Given the description of an element on the screen output the (x, y) to click on. 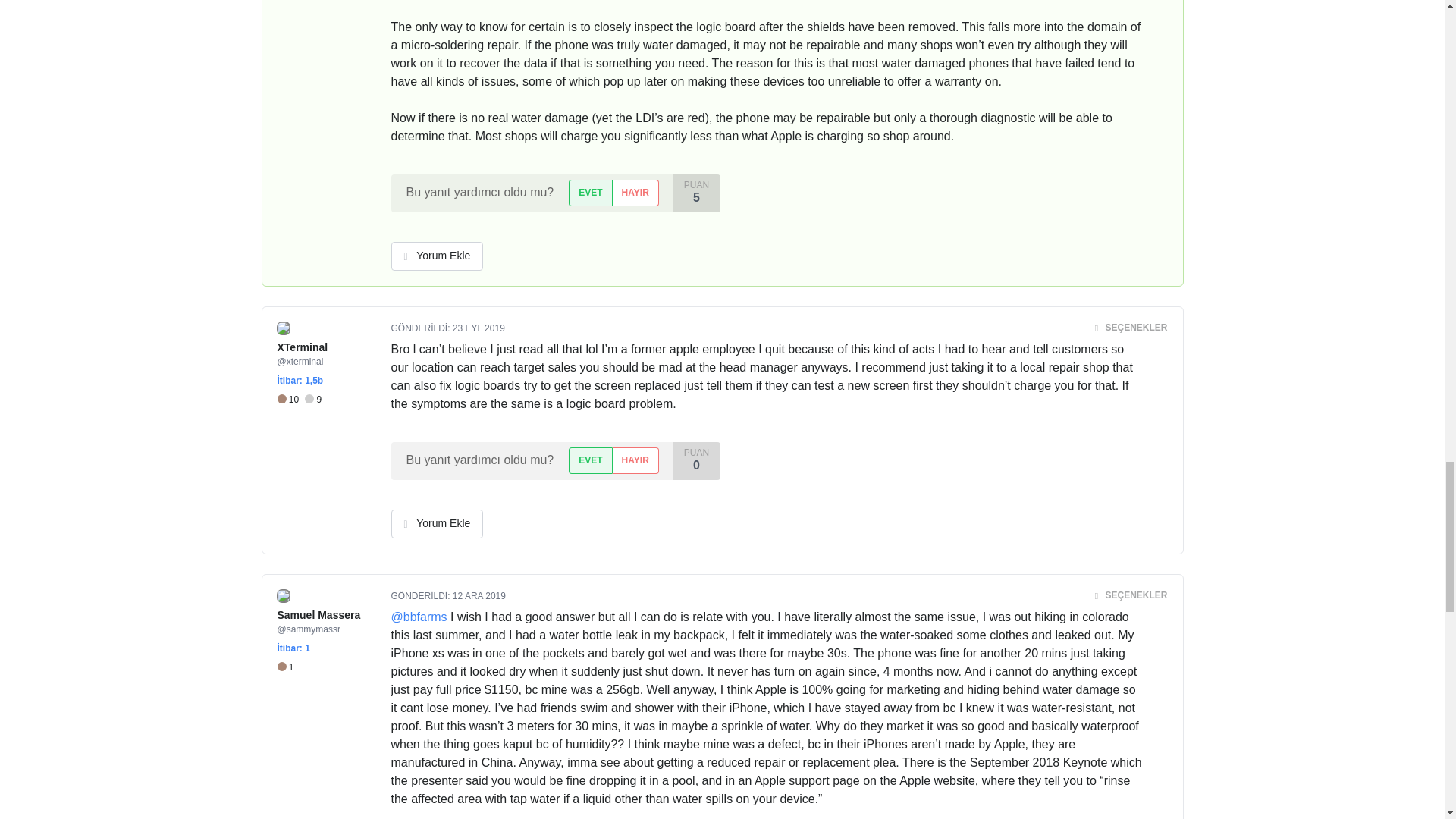
Thu, 12 Dec 2019 14:46:23 -0700 (478, 595)
Mon, 23 Sep 2019 00:06:54 -0700 (478, 327)
10 Bronz rozeti (291, 399)
1 Bronz rozeti (286, 667)
